Given the description of an element on the screen output the (x, y) to click on. 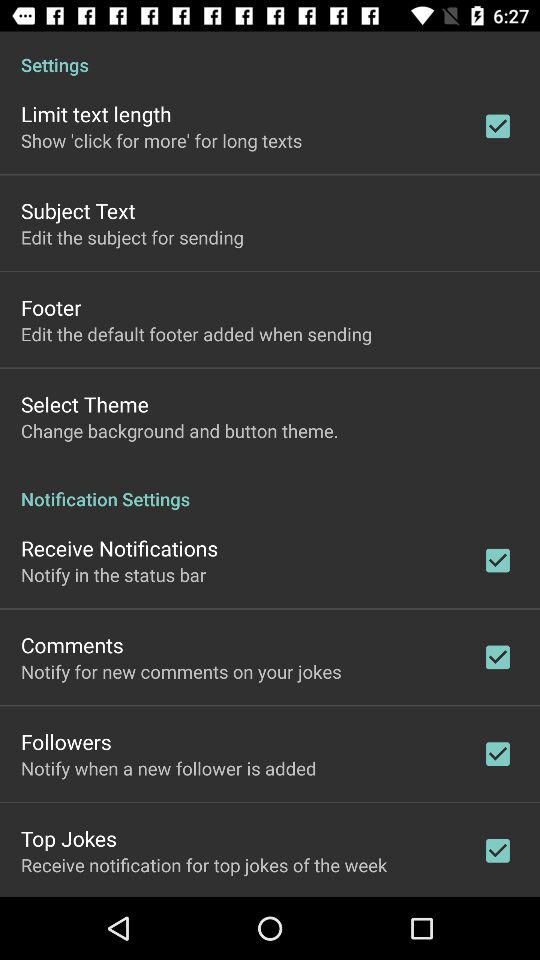
swipe to the notify in the icon (113, 574)
